Given the description of an element on the screen output the (x, y) to click on. 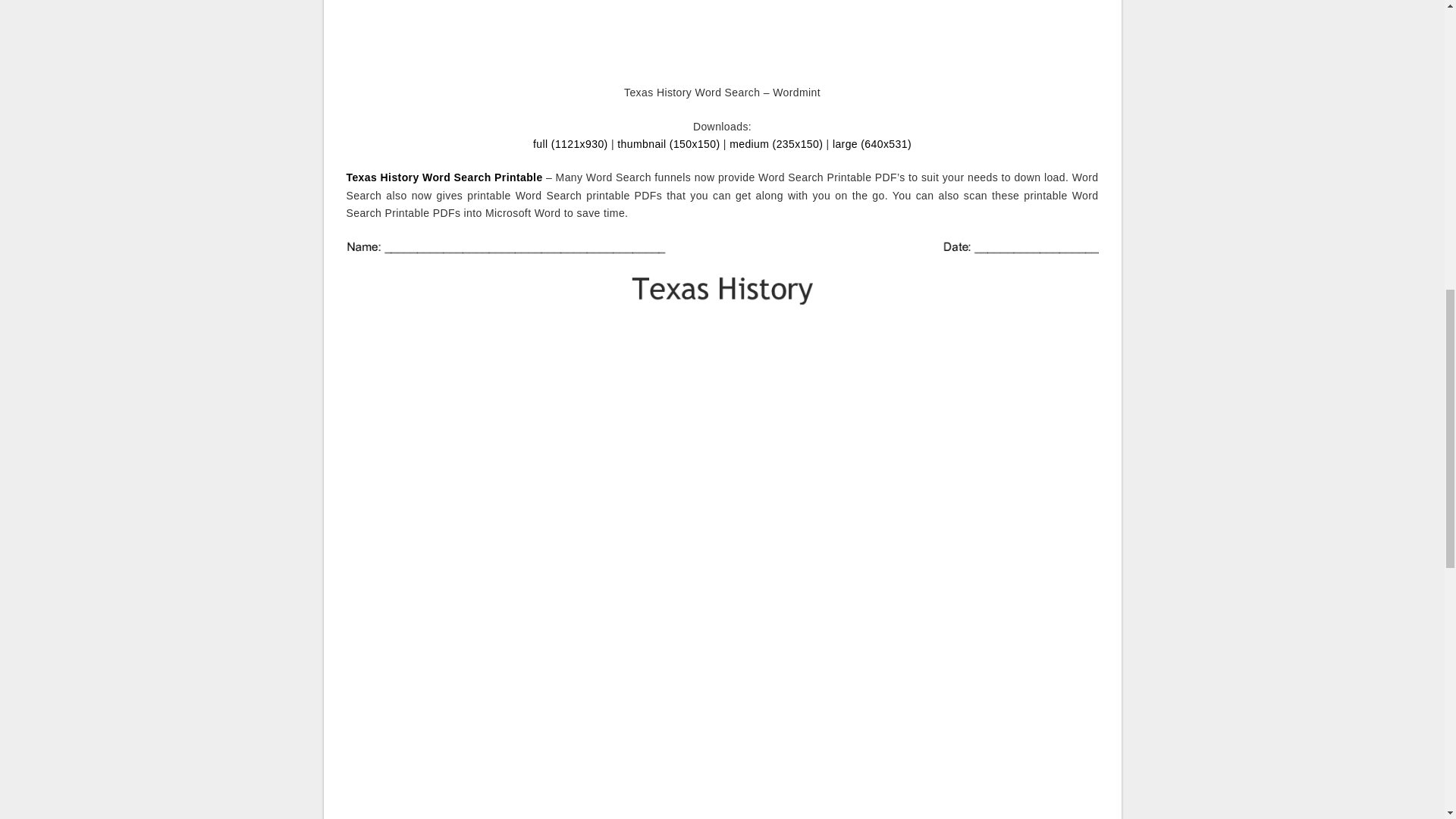
Texas History Word Search Printable (443, 177)
